Given the description of an element on the screen output the (x, y) to click on. 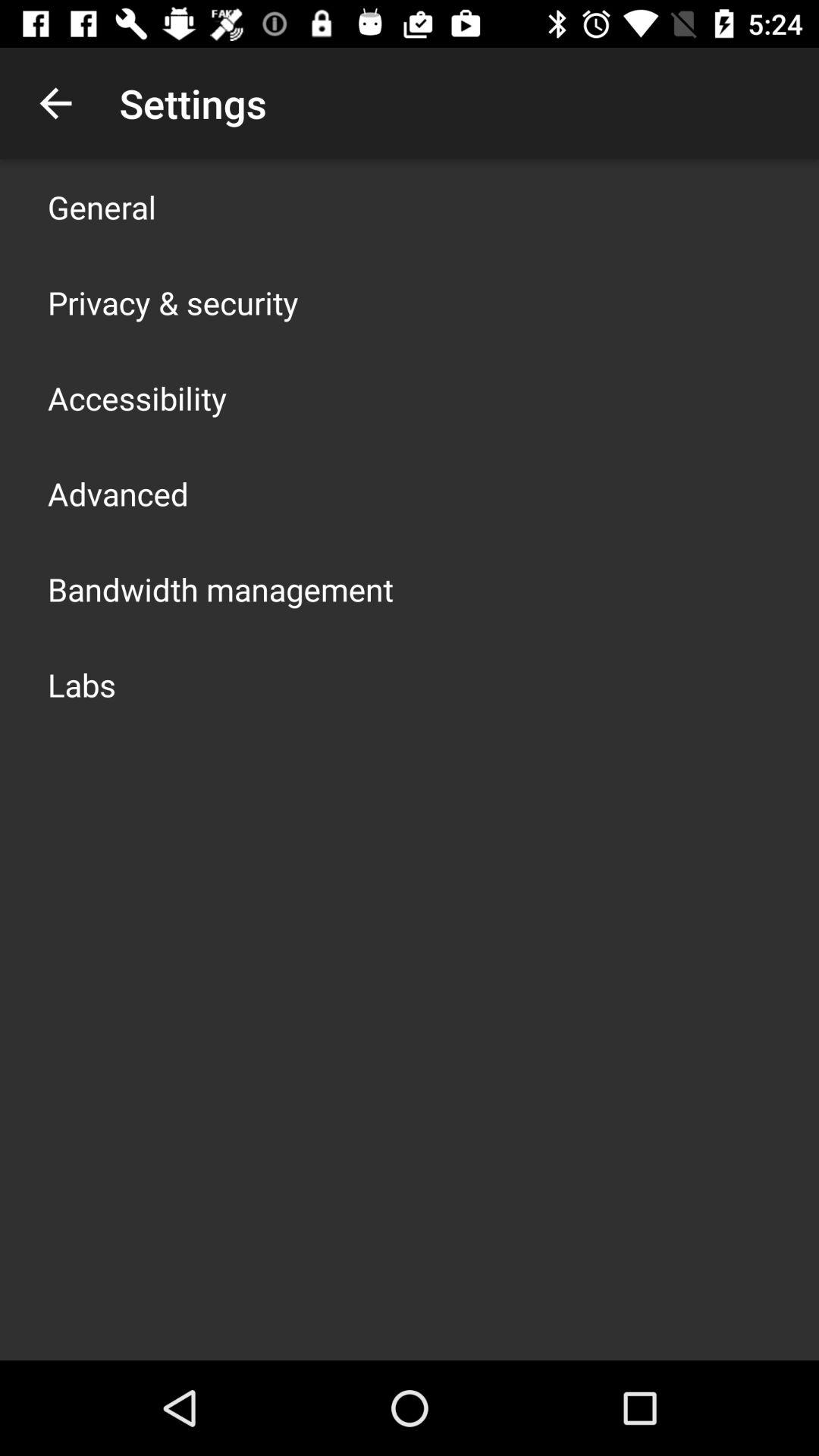
press general app (101, 206)
